Given the description of an element on the screen output the (x, y) to click on. 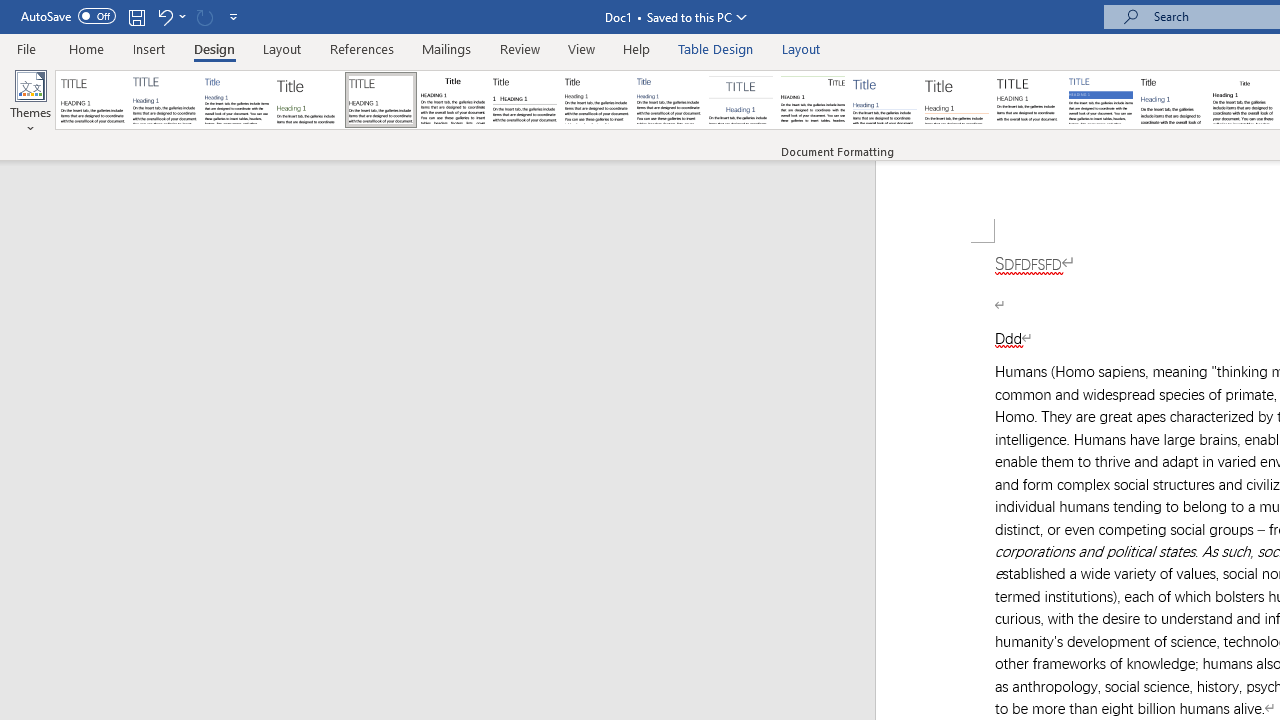
Basic (Elegant) (164, 100)
Review (520, 48)
More Options (182, 15)
Home (86, 48)
Save (136, 15)
Word (1172, 100)
System (10, 11)
Basic (Simple) (236, 100)
System (10, 11)
Black & White (Capitalized) (381, 100)
AutoSave (68, 16)
Layout (801, 48)
Minimalist (1028, 100)
Undo Apply Quick Style Set (164, 15)
Can't Repeat (204, 15)
